Given the description of an element on the screen output the (x, y) to click on. 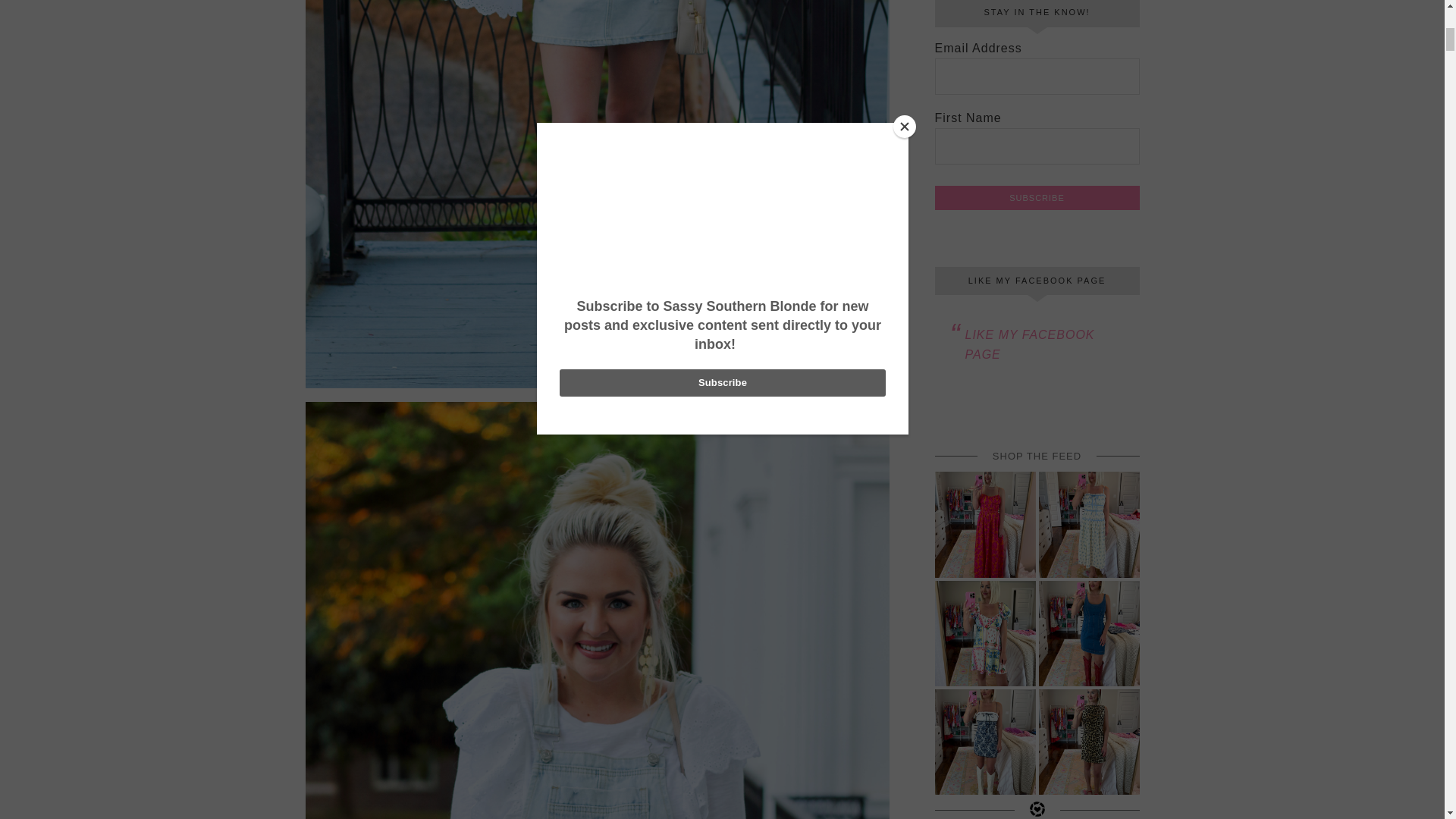
Subscribe (1036, 197)
